Given the description of an element on the screen output the (x, y) to click on. 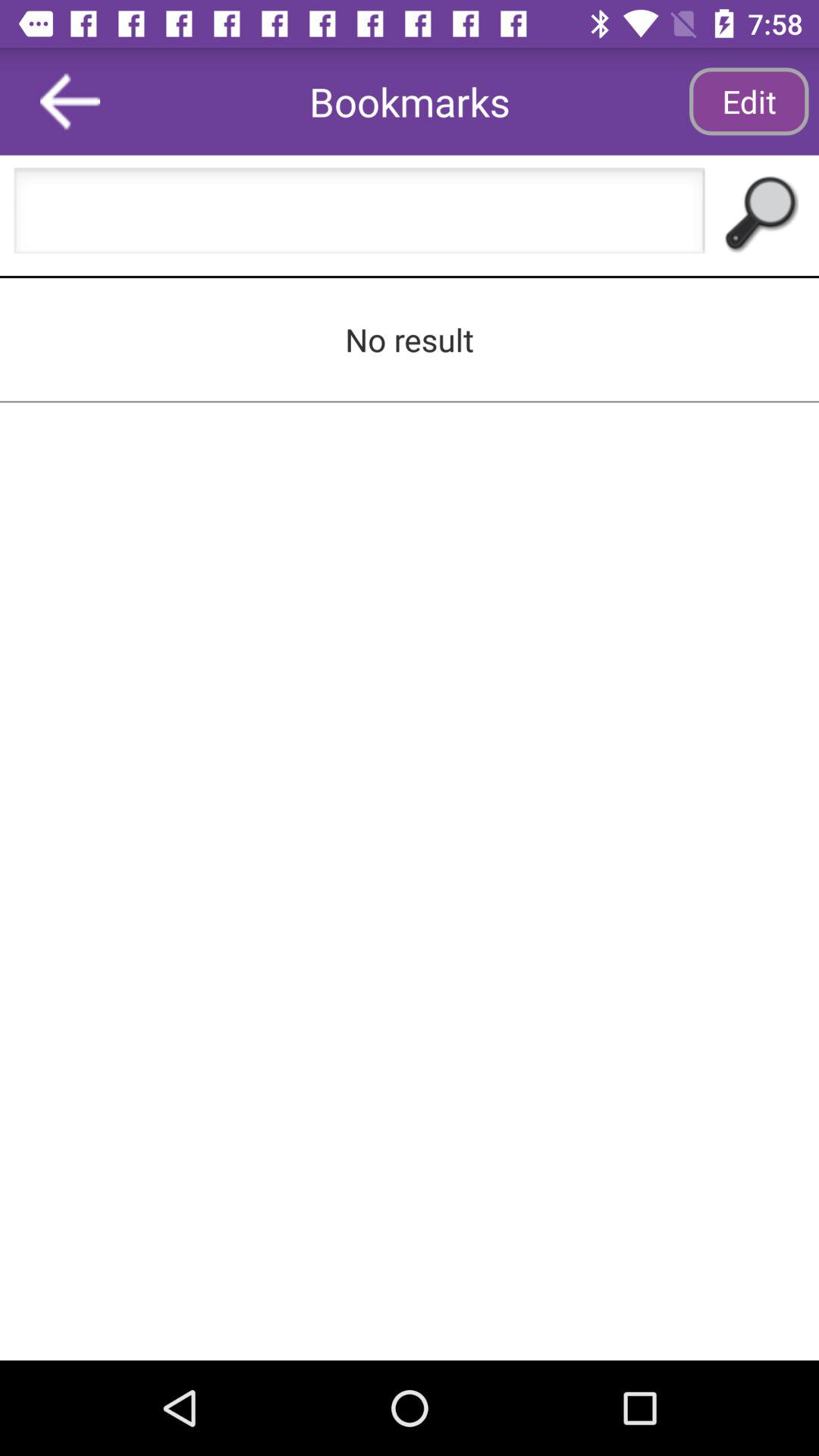
choose app to the right of the bookmarks icon (748, 101)
